Given the description of an element on the screen output the (x, y) to click on. 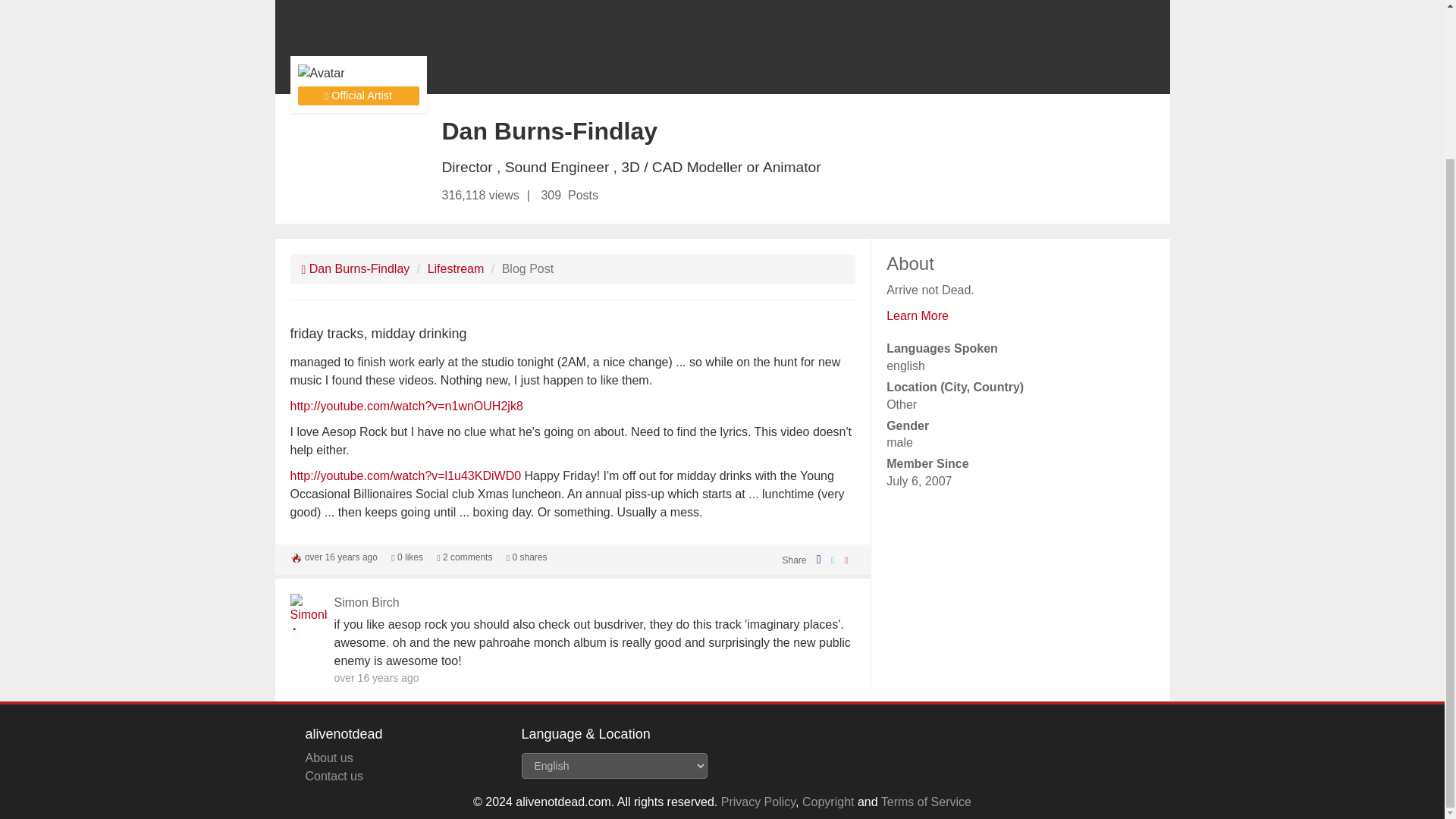
Lifestream (456, 268)
Dan Burns-Findlay (355, 268)
Contact us (333, 775)
Terms of Service (925, 801)
Copyright (827, 801)
Simon Birch (365, 602)
About us (328, 757)
Privacy Policy (757, 801)
 2 comments (464, 557)
over 16 years ago (340, 557)
Learn More (917, 315)
